Given the description of an element on the screen output the (x, y) to click on. 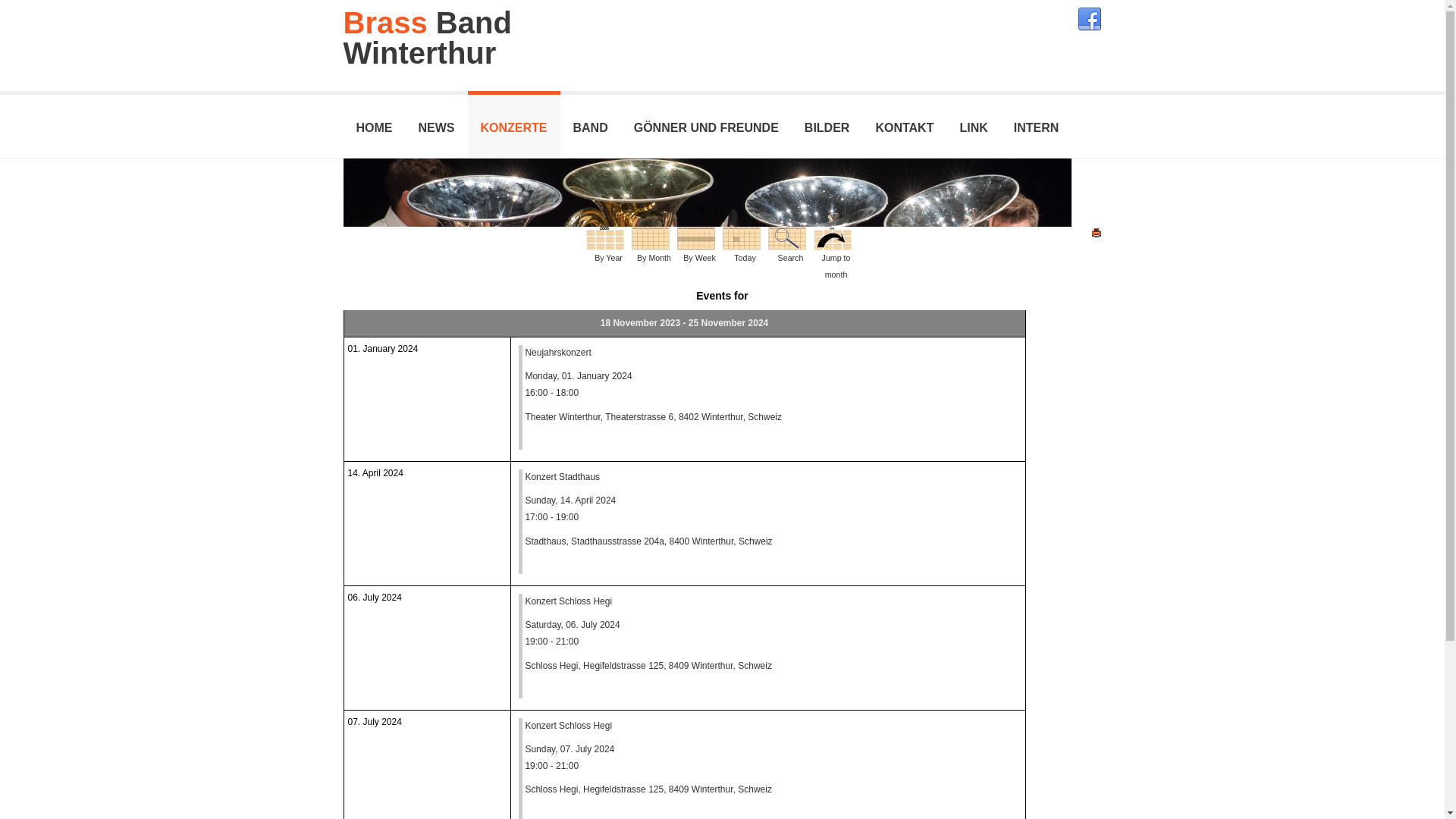
By Week Element type: hover (695, 237)
Search Element type: hover (786, 237)
NEWS Element type: text (435, 124)
Brass Band Winterthur Element type: text (426, 37)
LINK Element type: text (973, 124)
By Month Element type: hover (649, 237)
Print Element type: hover (1095, 231)
Today Element type: hover (740, 237)
INTERN Element type: text (1036, 124)
By Year Element type: hover (604, 237)
HOME Element type: text (373, 124)
KONTAKT Element type: text (904, 124)
BILDER Element type: text (826, 124)
BAND Element type: text (589, 124)
KONZERTE Element type: text (513, 124)
Jump to month Element type: hover (831, 237)
